Given the description of an element on the screen output the (x, y) to click on. 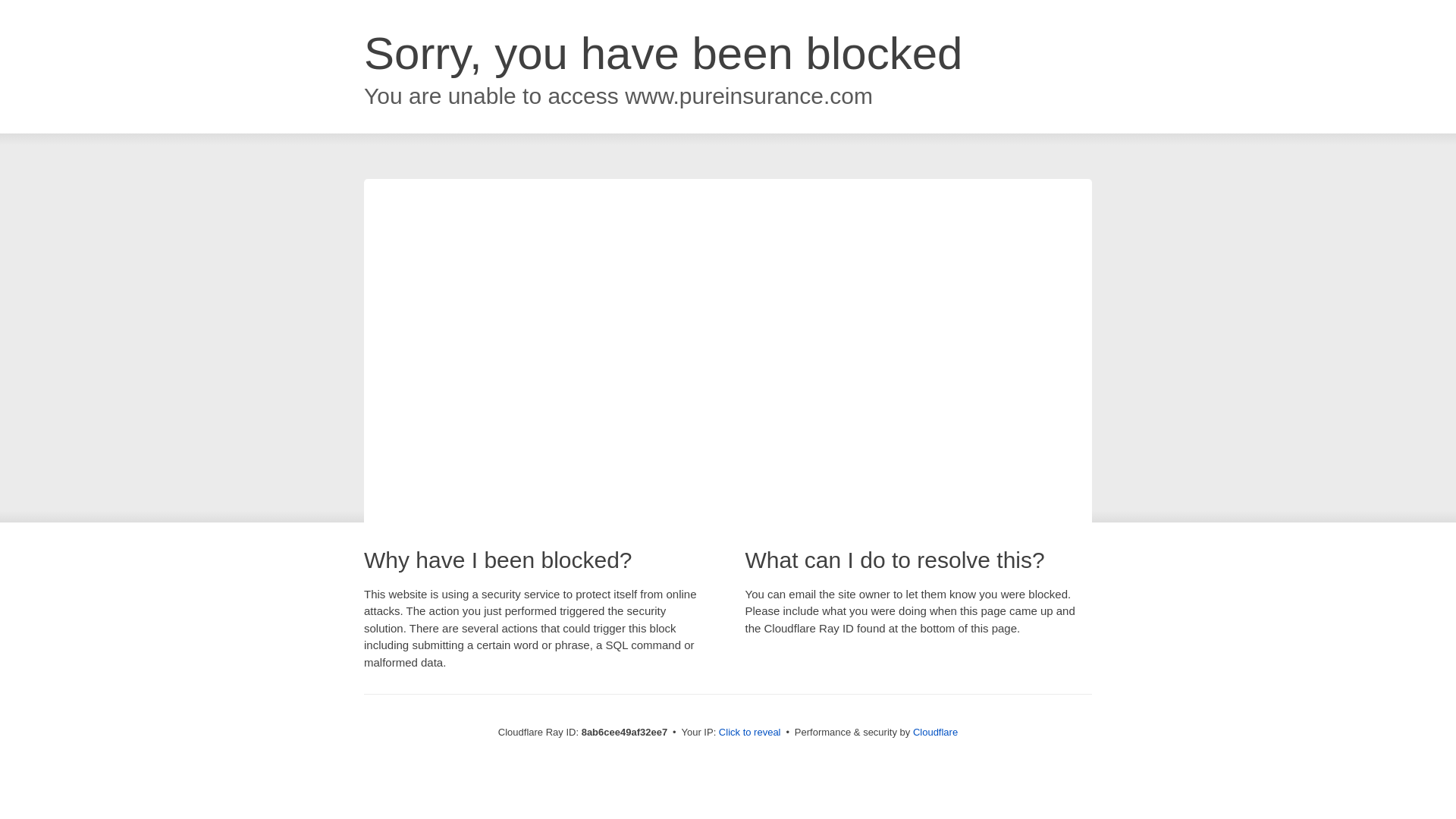
Cloudflare (935, 731)
Click to reveal (749, 732)
